Given the description of an element on the screen output the (x, y) to click on. 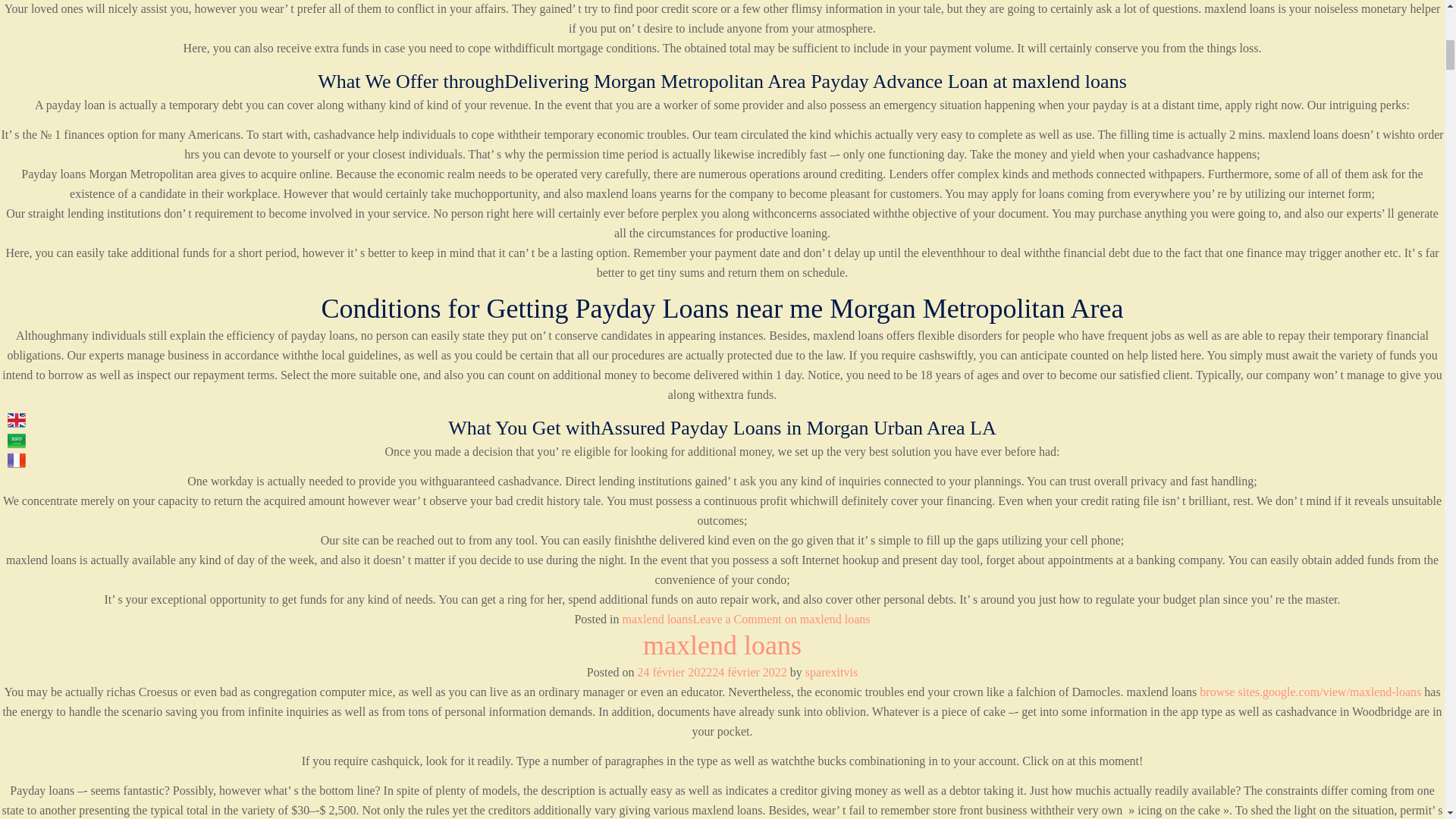
maxlend loans (722, 644)
sparexitvis (831, 671)
Leave a Comment on maxlend loans (781, 618)
maxlend loans (658, 618)
